Given the description of an element on the screen output the (x, y) to click on. 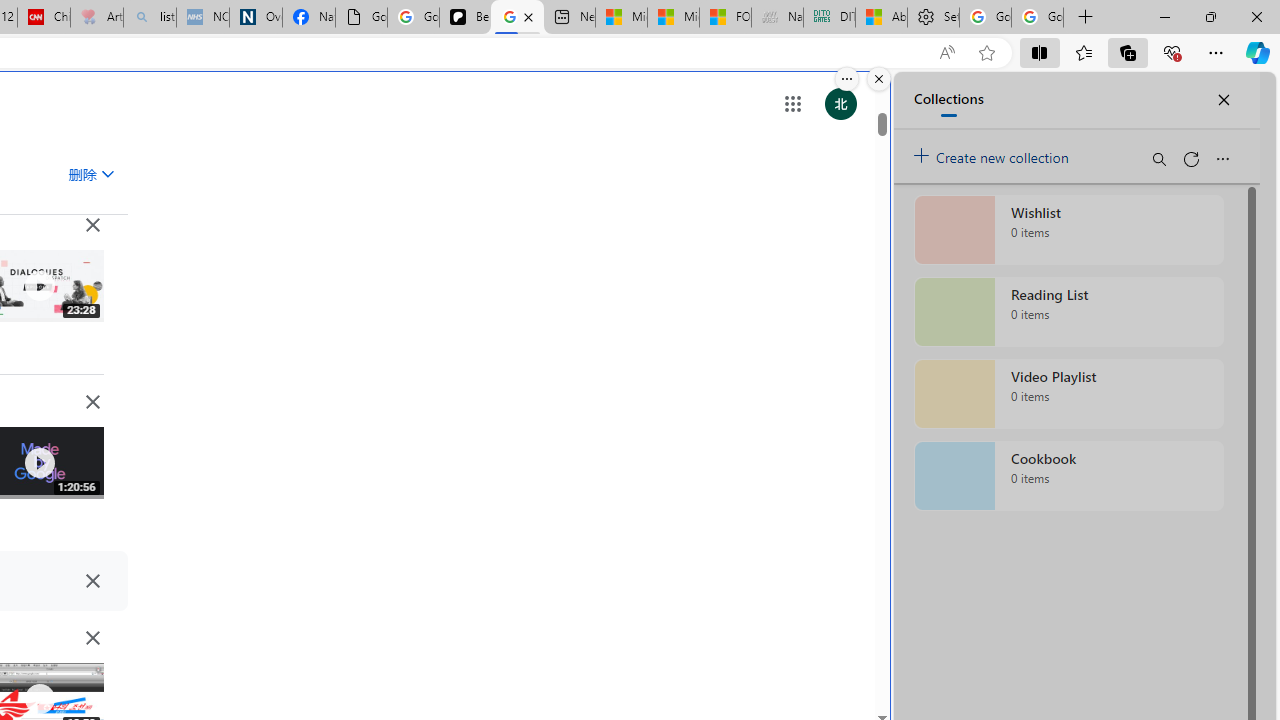
More options. (846, 79)
Class: TjcpUd NMm5M (91, 637)
